Given the description of an element on the screen output the (x, y) to click on. 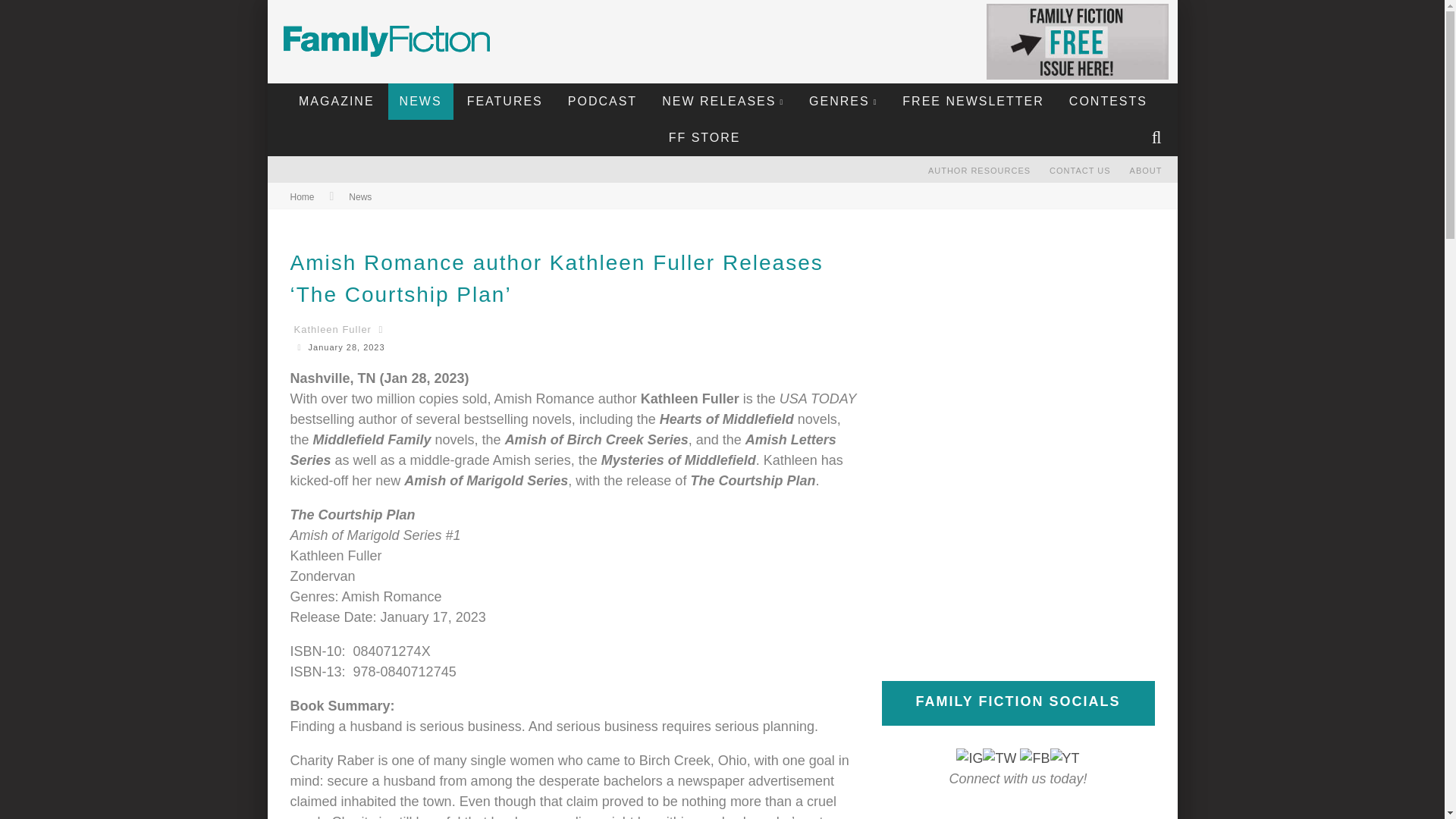
FEATURES (504, 101)
Search (1158, 137)
MAGAZINE (335, 101)
NEWS (420, 101)
View all posts in News (360, 196)
